Given the description of an element on the screen output the (x, y) to click on. 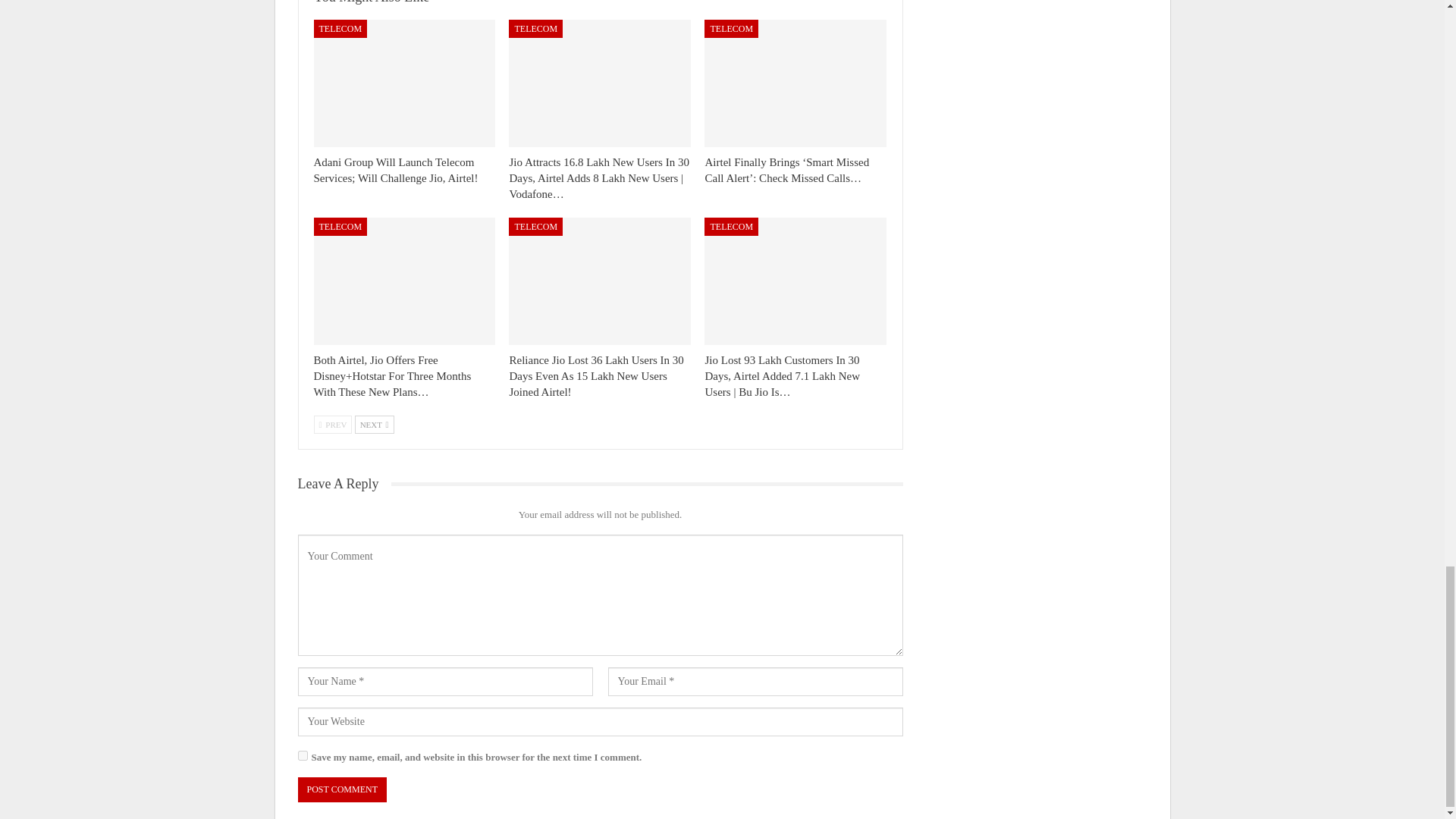
yes (302, 755)
Post Comment (341, 789)
